Given the description of an element on the screen output the (x, y) to click on. 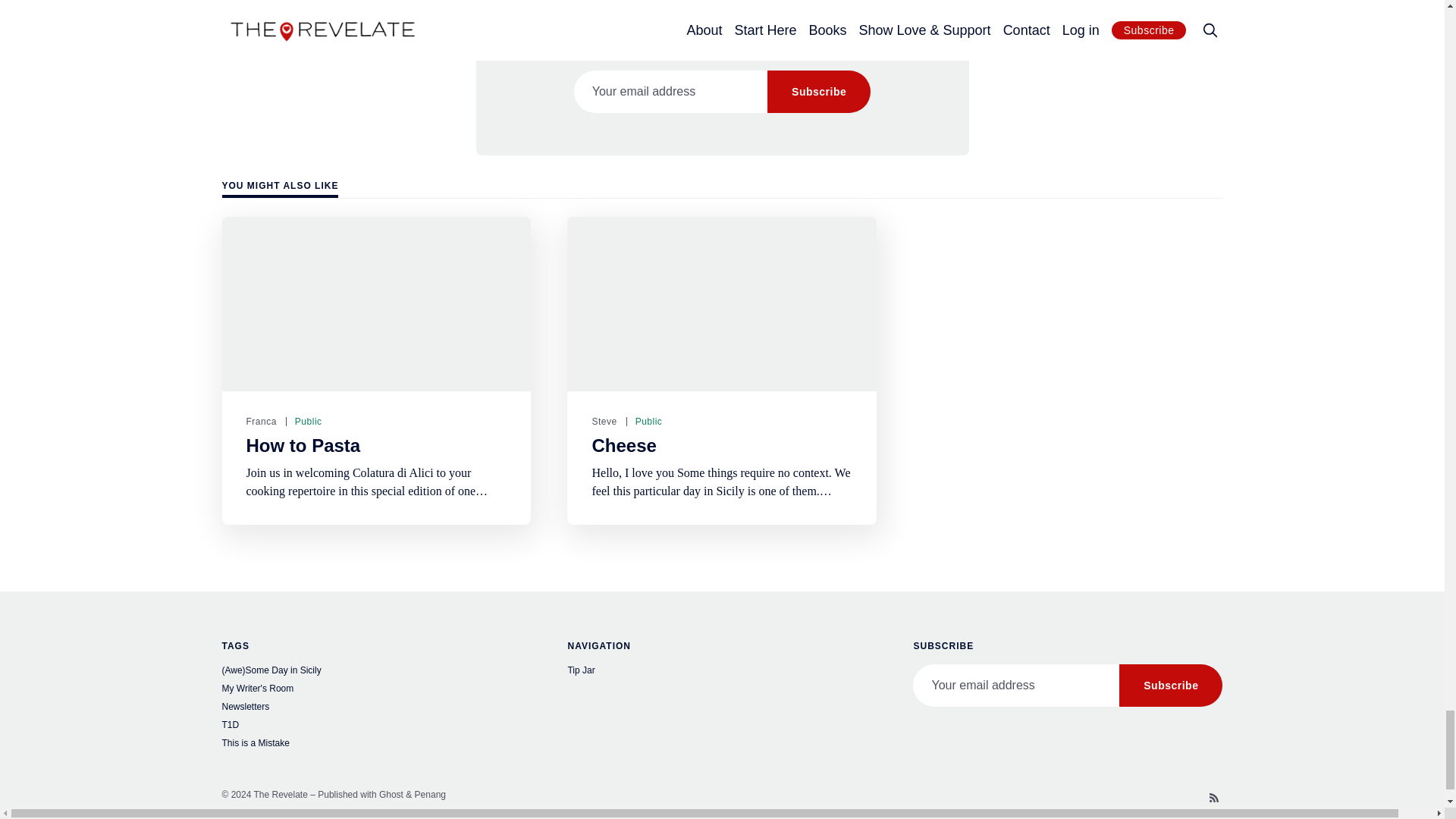
Subscribe (818, 91)
Newsletters (376, 708)
Tip Jar (721, 671)
How to Pasta (302, 445)
Subscribe (1171, 685)
T1D (376, 726)
This is a Mistake (376, 744)
Penang (429, 794)
RSS (1213, 797)
My Writer's Room (376, 689)
